Given the description of an element on the screen output the (x, y) to click on. 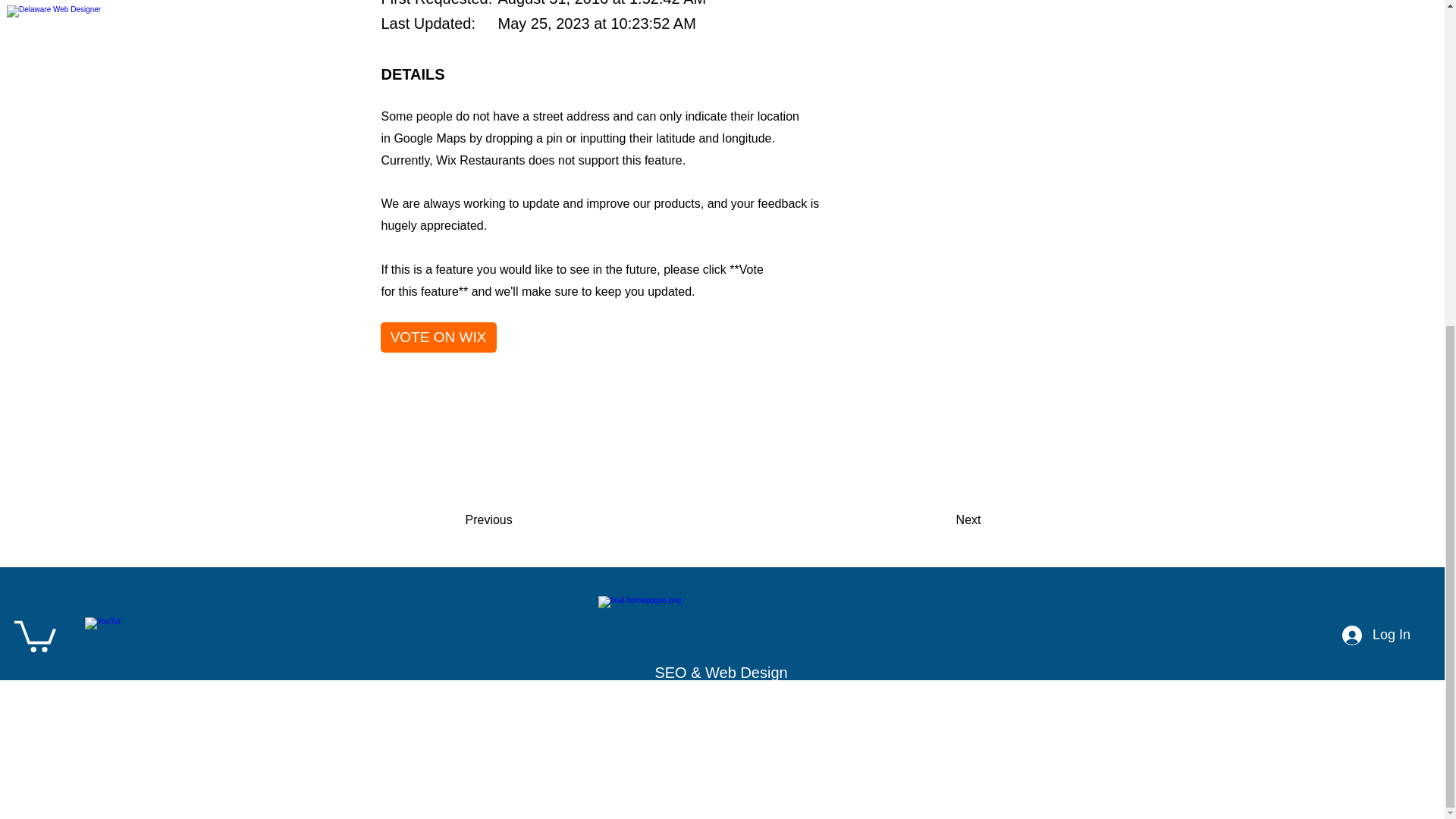
Log In (1376, 635)
Next (943, 520)
VOTE ON WIX (438, 337)
PPC (496, 725)
Previous (514, 520)
SEO (400, 725)
